Given the description of an element on the screen output the (x, y) to click on. 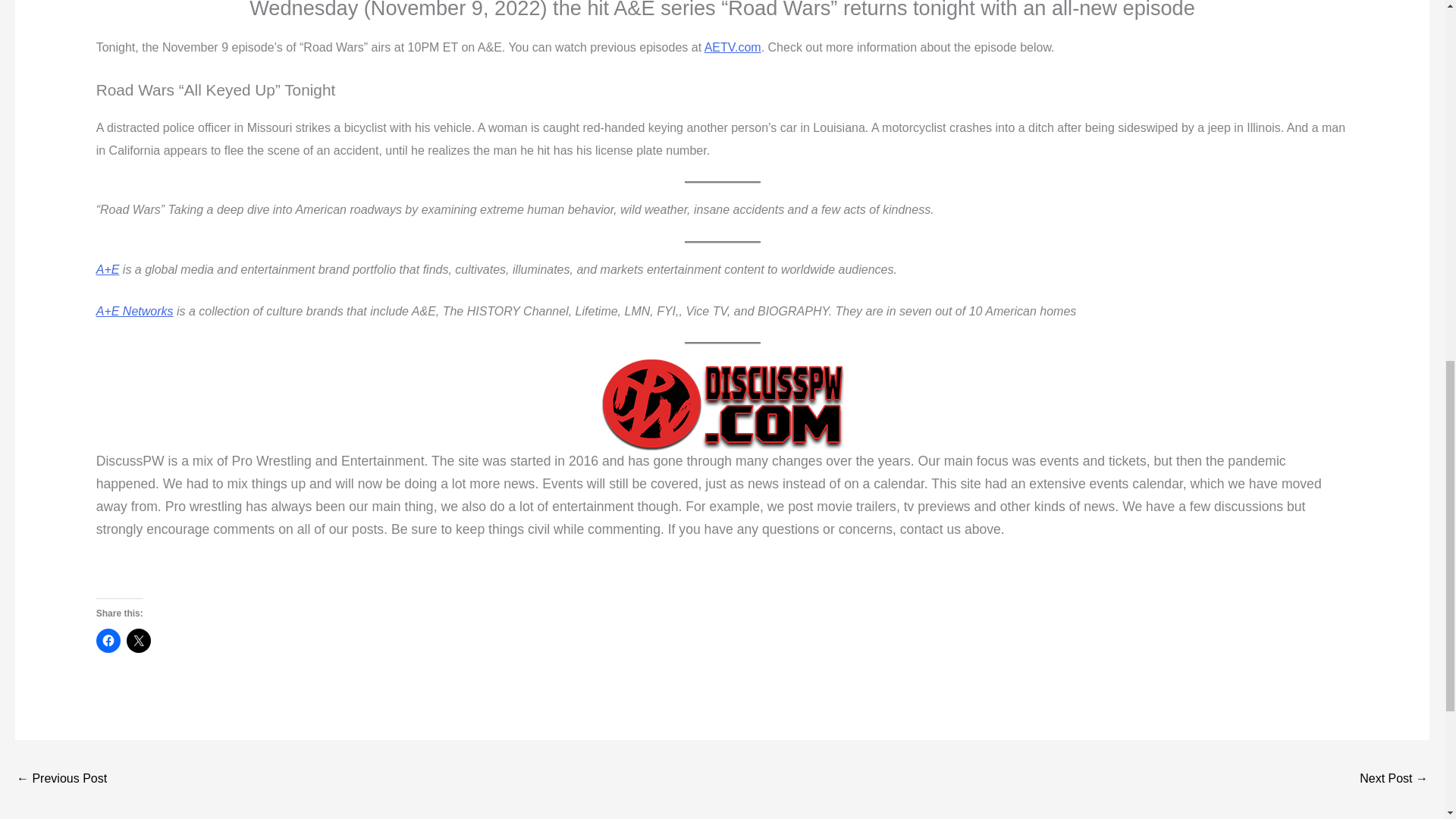
AETV.com (732, 47)
Click to share on X (138, 640)
Click to share on Facebook (108, 640)
